Given the description of an element on the screen output the (x, y) to click on. 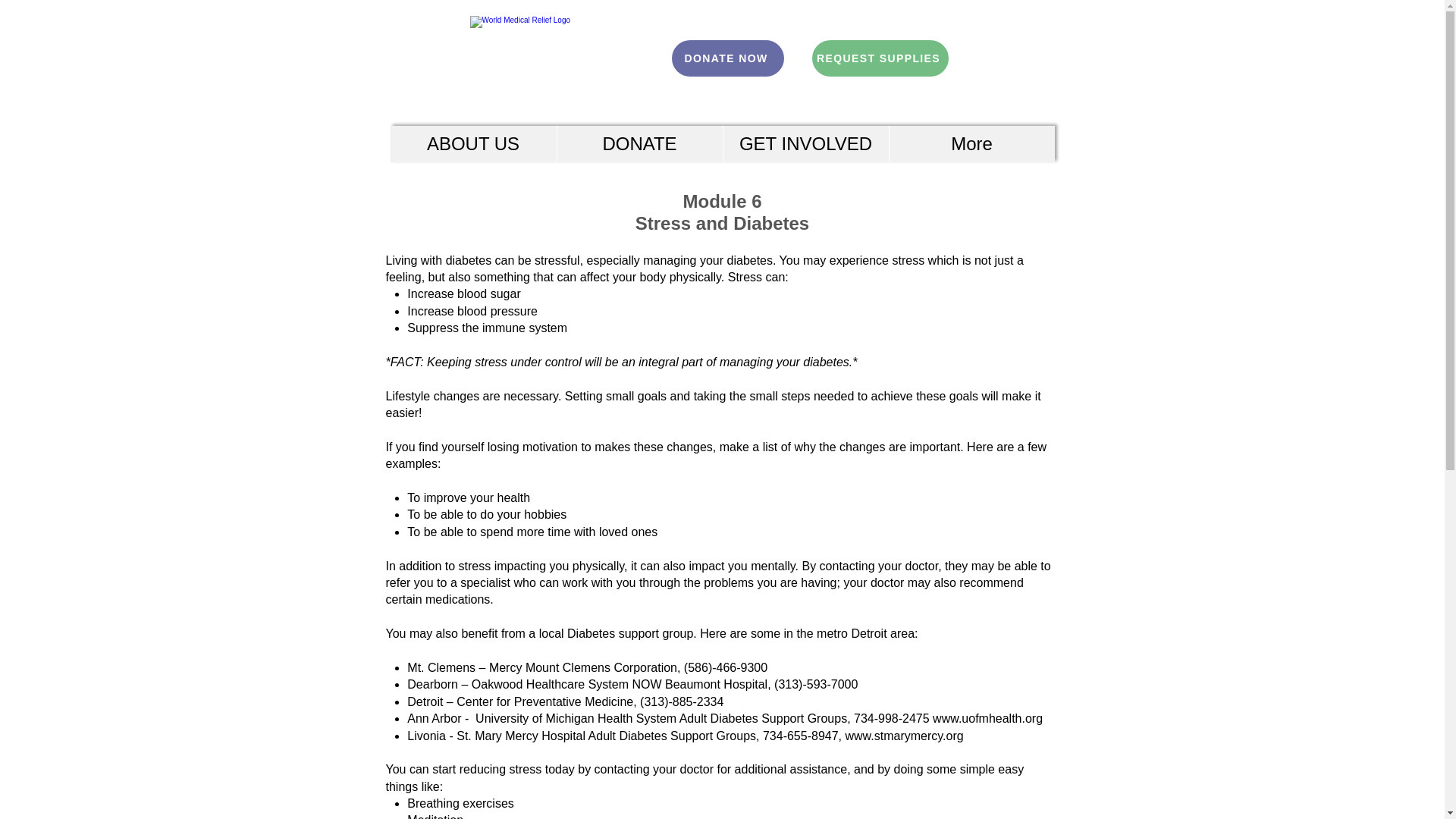
DONATE (639, 144)
ABOUT US (473, 144)
DONATE NOW (727, 58)
REQUEST SUPPLIES (878, 58)
GET INVOLVED (805, 144)
